Given the description of an element on the screen output the (x, y) to click on. 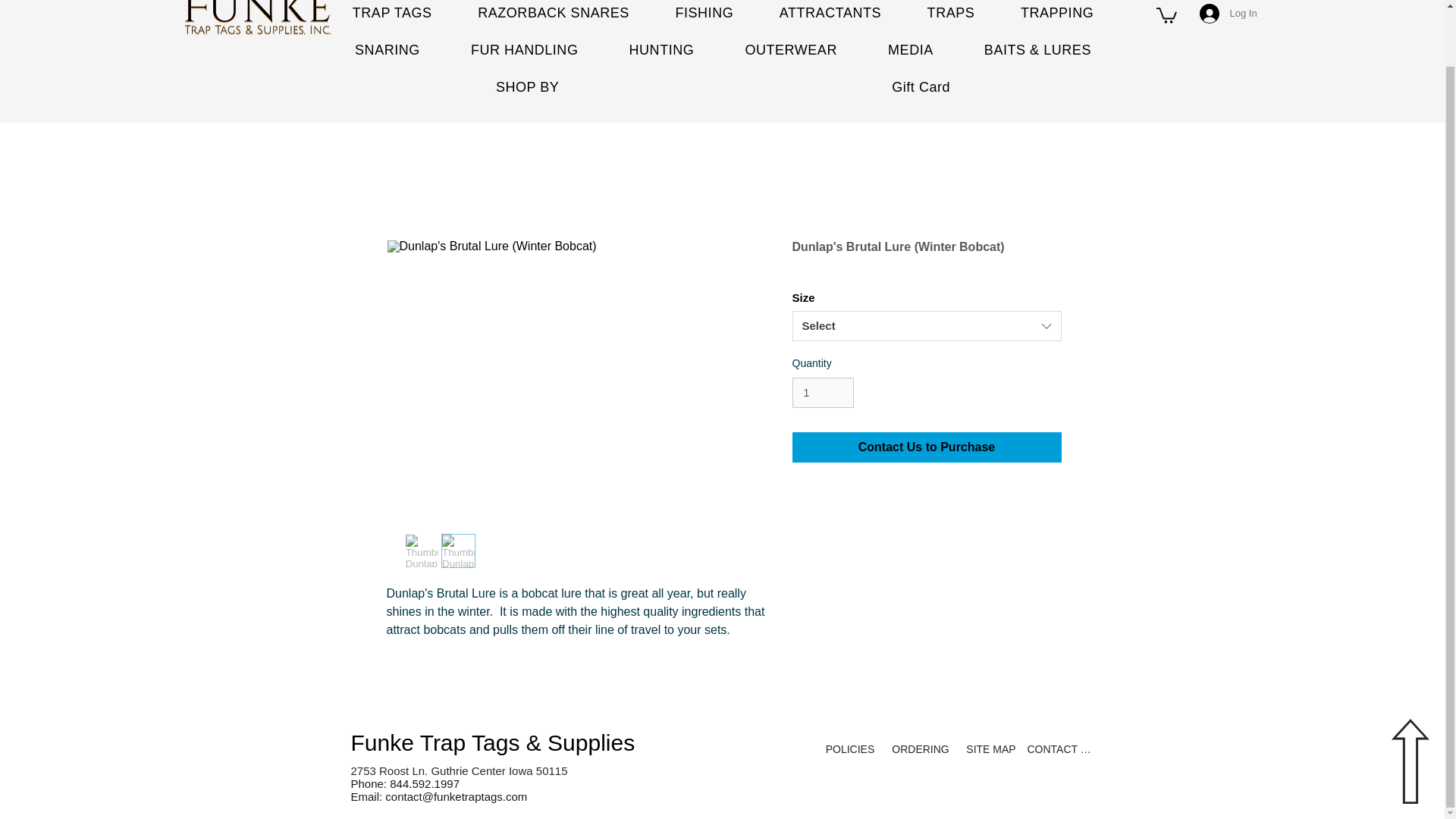
ATTRACTANTS (830, 14)
RAZORBACK SNARES (552, 14)
TRAPPING (1057, 14)
TRAPS (950, 14)
1 (822, 392)
FISHING (704, 14)
TRAP TAGS (391, 14)
